Given the description of an element on the screen output the (x, y) to click on. 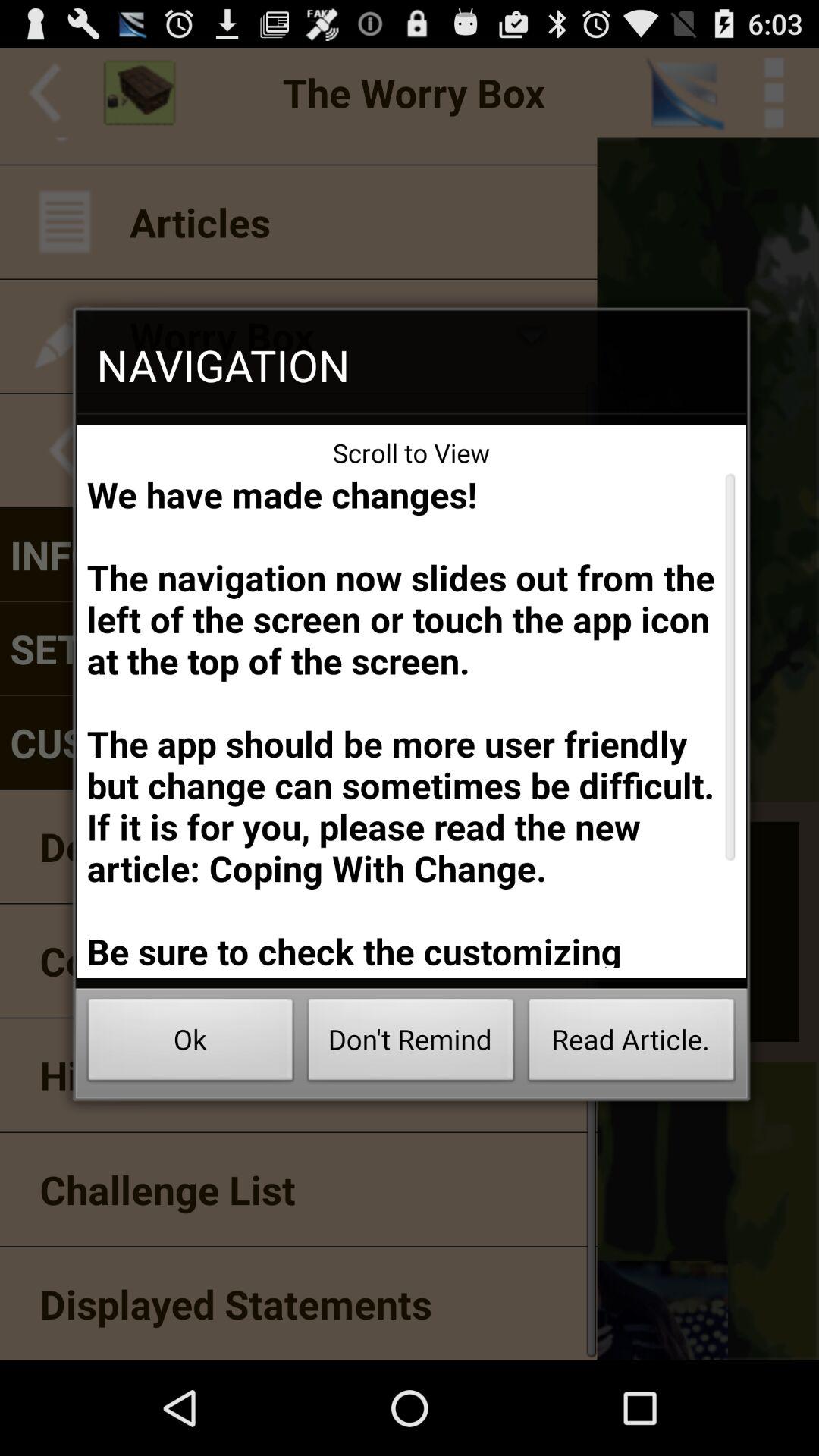
turn on the icon below the we have made app (410, 1044)
